Given the description of an element on the screen output the (x, y) to click on. 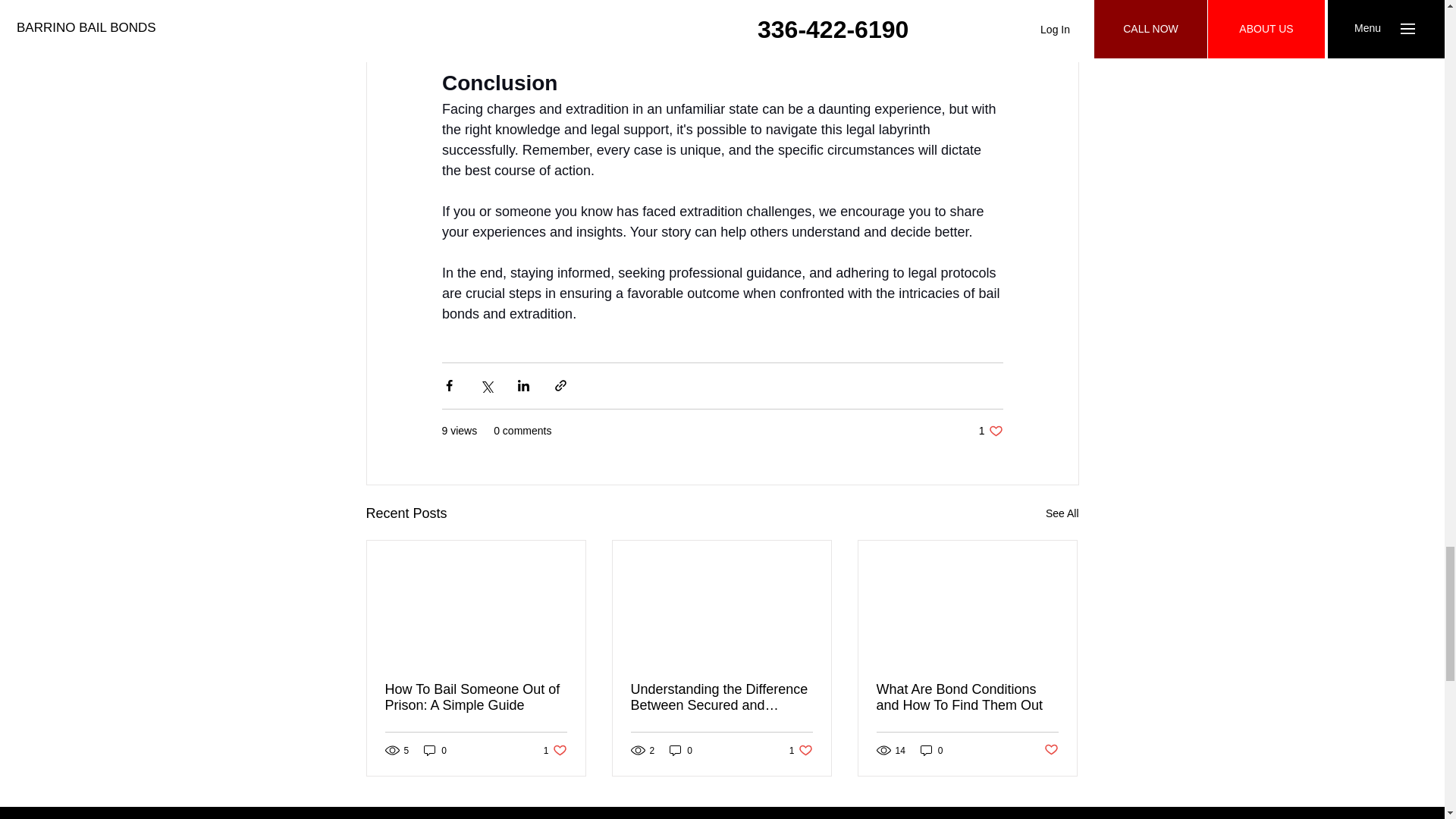
0 (435, 749)
What Are Bond Conditions and How To Find Them Out (990, 430)
0 (967, 696)
See All (931, 749)
0 (1061, 513)
Post not marked as liked (681, 749)
